Given the description of an element on the screen output the (x, y) to click on. 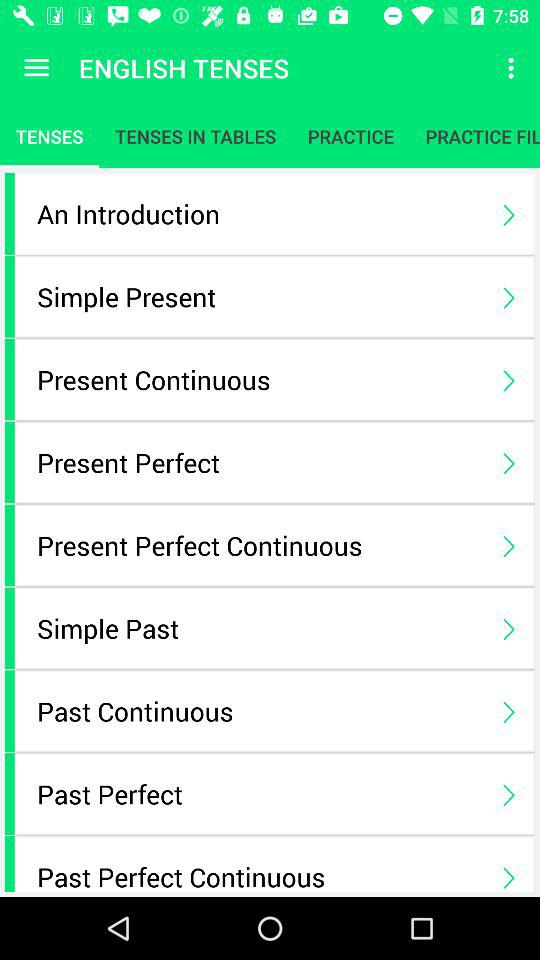
select item above past continuous item (259, 627)
